Given the description of an element on the screen output the (x, y) to click on. 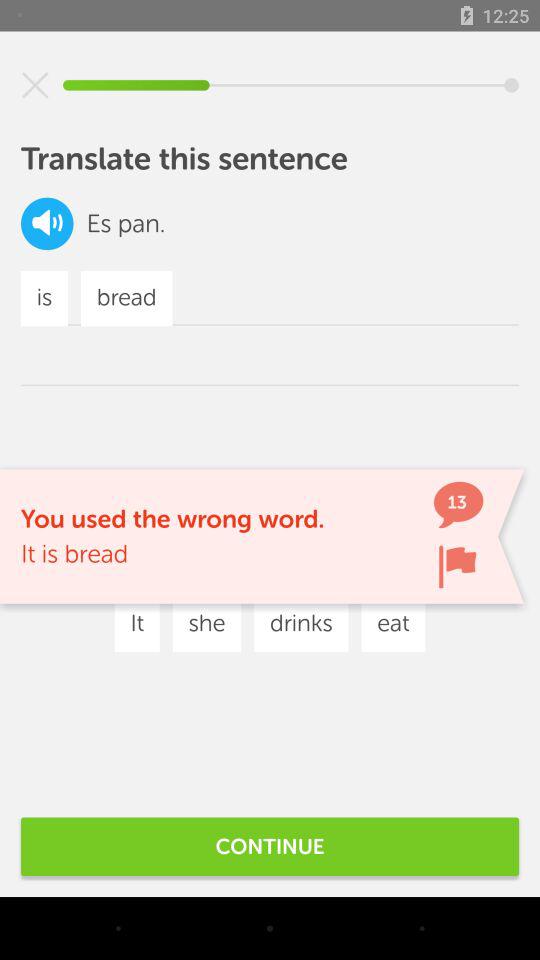
mute volume (35, 85)
